Given the description of an element on the screen output the (x, y) to click on. 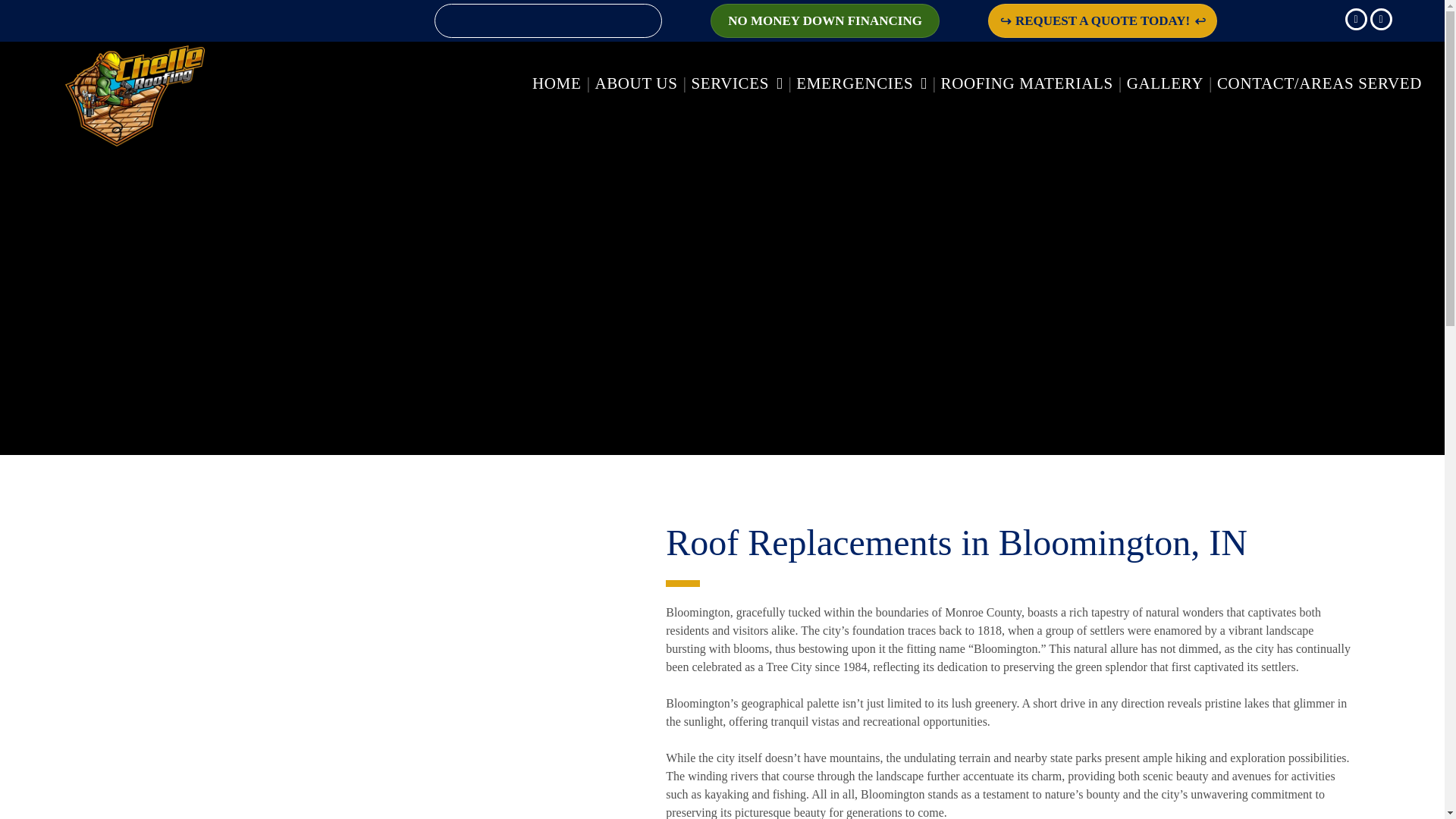
ABOUT US (634, 84)
HOME (555, 84)
GALLERY (1163, 84)
NO MONEY DOWN FINANCING (824, 20)
ROOFING MATERIALS (1025, 84)
SERVICES (734, 84)
EMERGENCIES (859, 84)
